Given the description of an element on the screen output the (x, y) to click on. 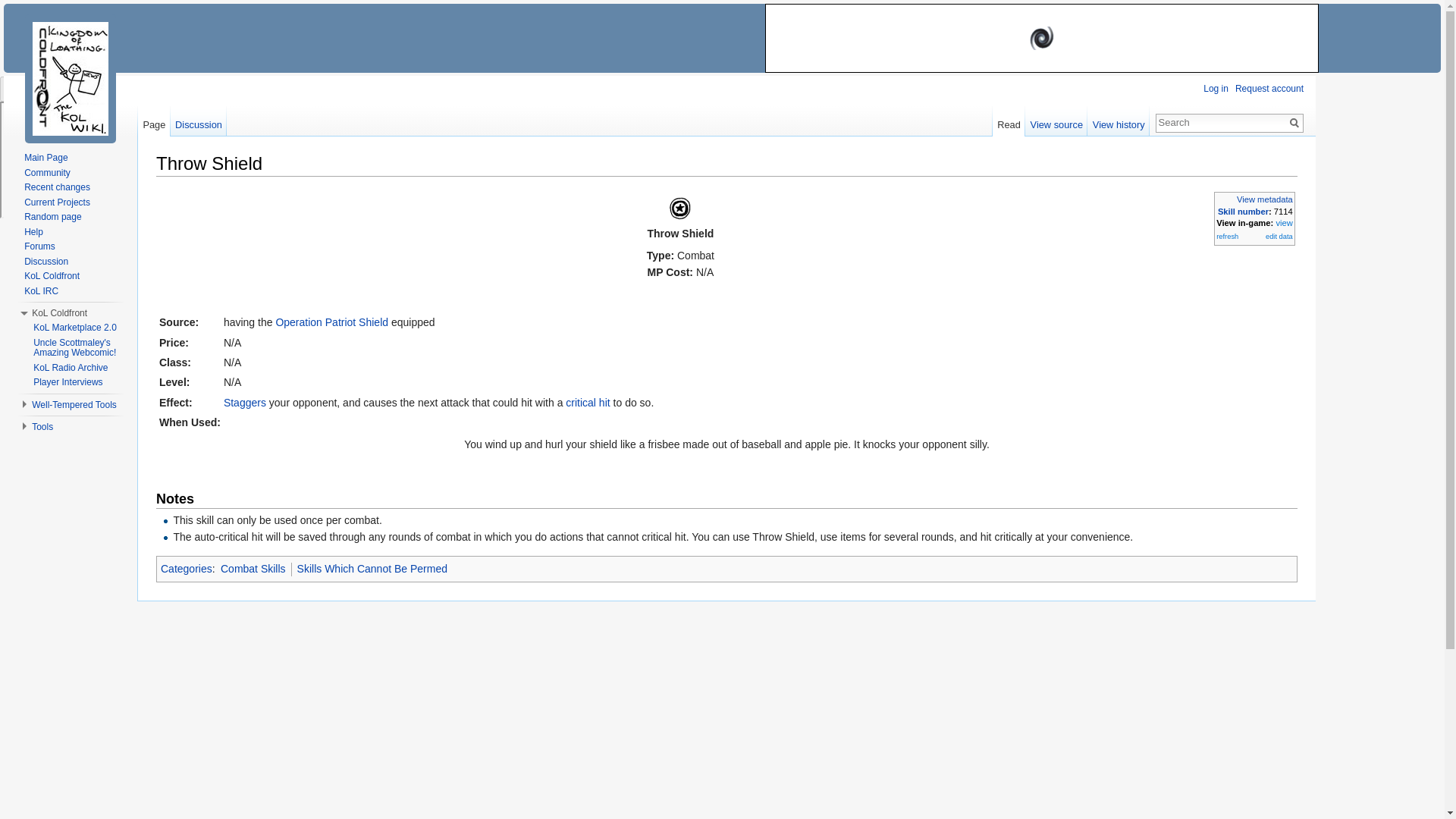
Uncle Scottmaley's Amazing Webcomic! (74, 346)
Discussion (198, 121)
Discussion (46, 261)
KoL Coldfront (59, 312)
Help (33, 231)
view (1283, 222)
Throw Shield (679, 206)
KoL IRC (41, 290)
Go (1294, 122)
Skills by number (1242, 211)
